Given the description of an element on the screen output the (x, y) to click on. 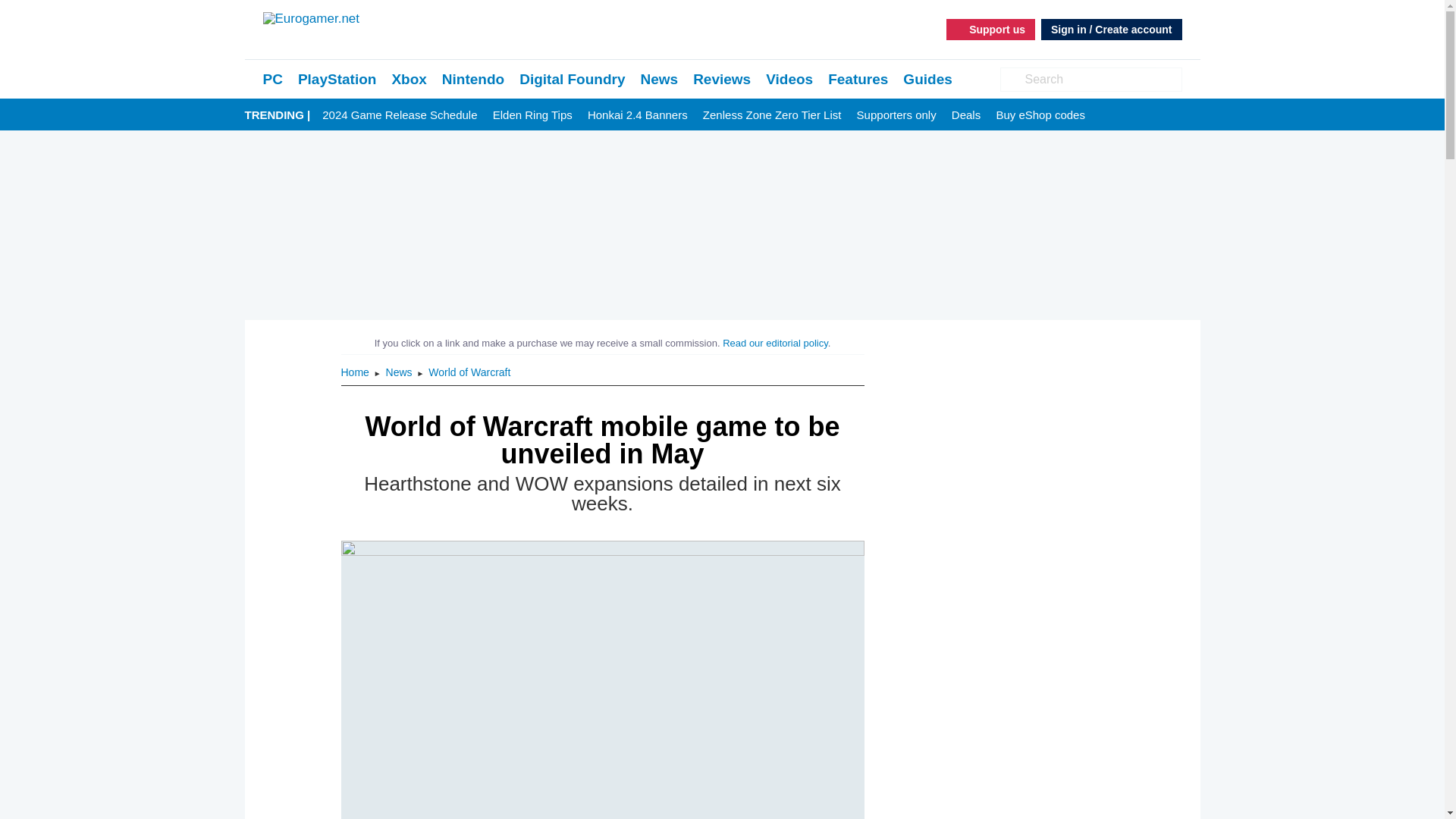
Xbox (408, 78)
Features (858, 78)
Deals (965, 114)
Supporters only (896, 114)
News (399, 372)
Zenless Zone Zero Tier List (772, 114)
Guides (927, 78)
Honkai 2.4 Banners (637, 114)
Buy eShop codes (1039, 114)
Features (858, 78)
Xbox (408, 78)
PlayStation (336, 78)
2024 Game Release Schedule (399, 114)
Videos (788, 78)
Zenless Zone Zero Tier List (772, 114)
